Given the description of an element on the screen output the (x, y) to click on. 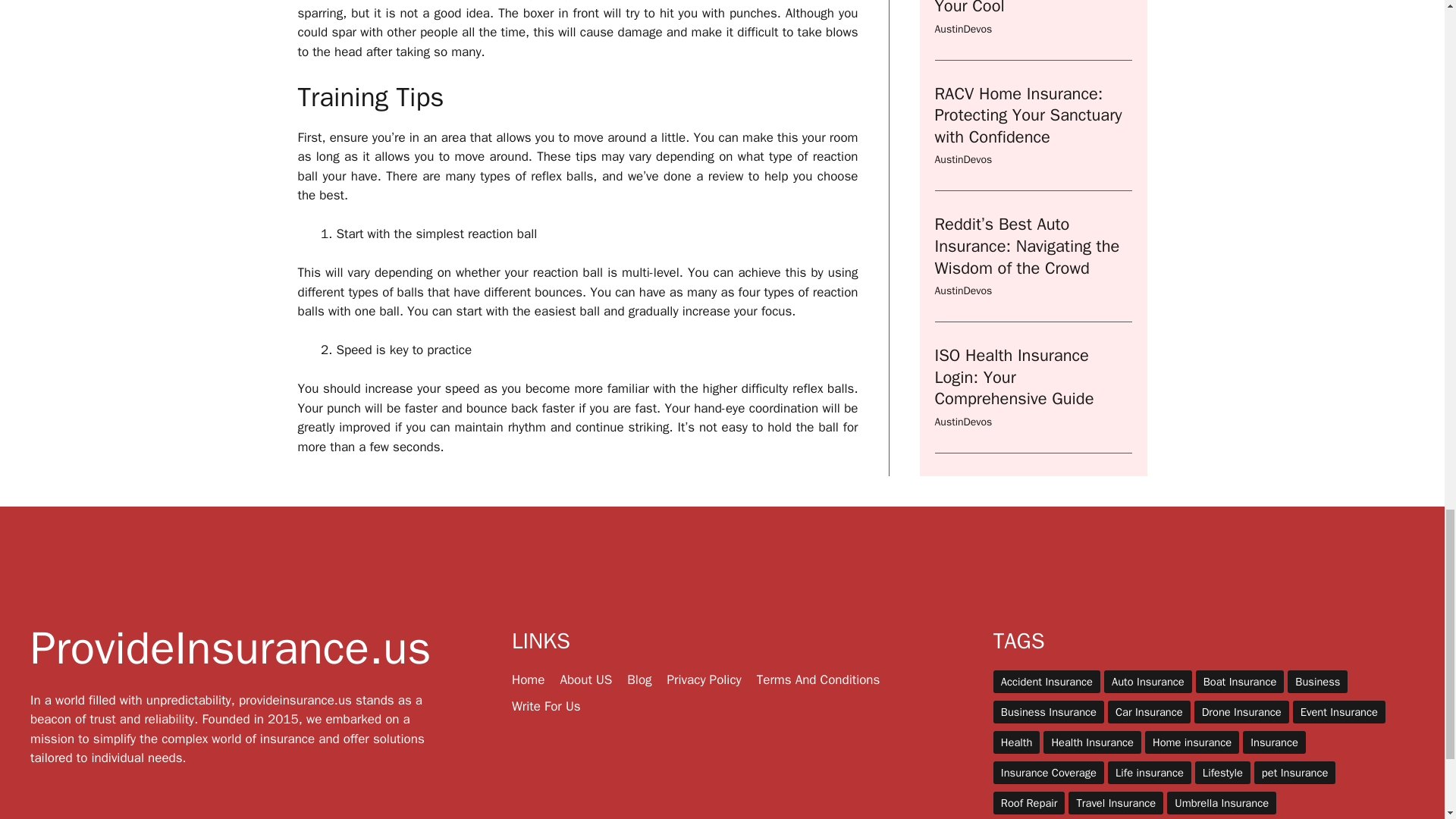
AustinDevos (962, 211)
AustinDevos (962, 80)
Home (528, 679)
Boat Insurance (1239, 681)
Write For Us (546, 706)
Privacy Policy (703, 679)
Blog (638, 679)
ISO Health Insurance Login: Your Comprehensive Guide (1013, 167)
Auto Insurance (1147, 681)
Terms And Conditions (818, 679)
